Given the description of an element on the screen output the (x, y) to click on. 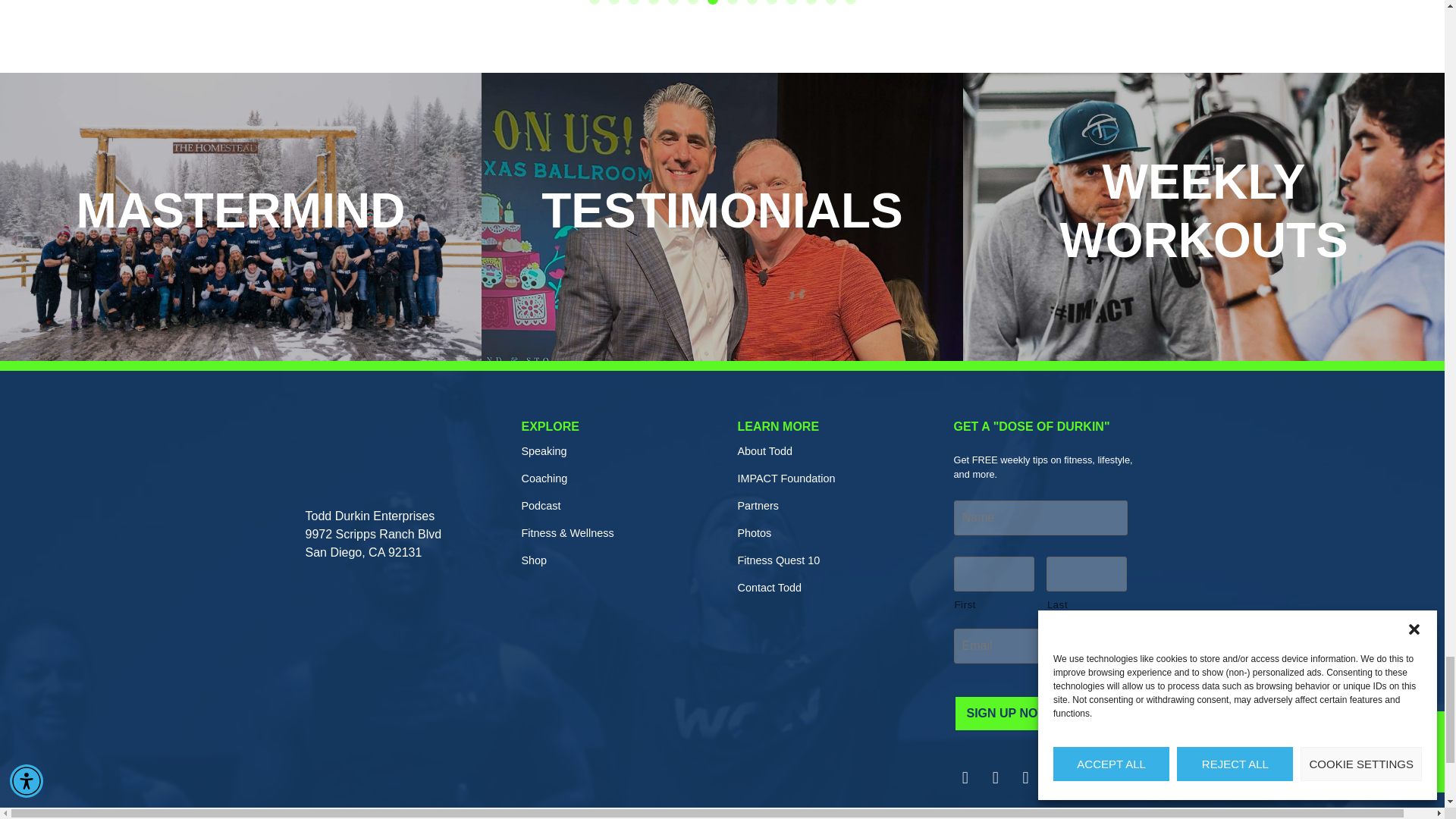
Sign Up Now! (1009, 713)
